Given the description of an element on the screen output the (x, y) to click on. 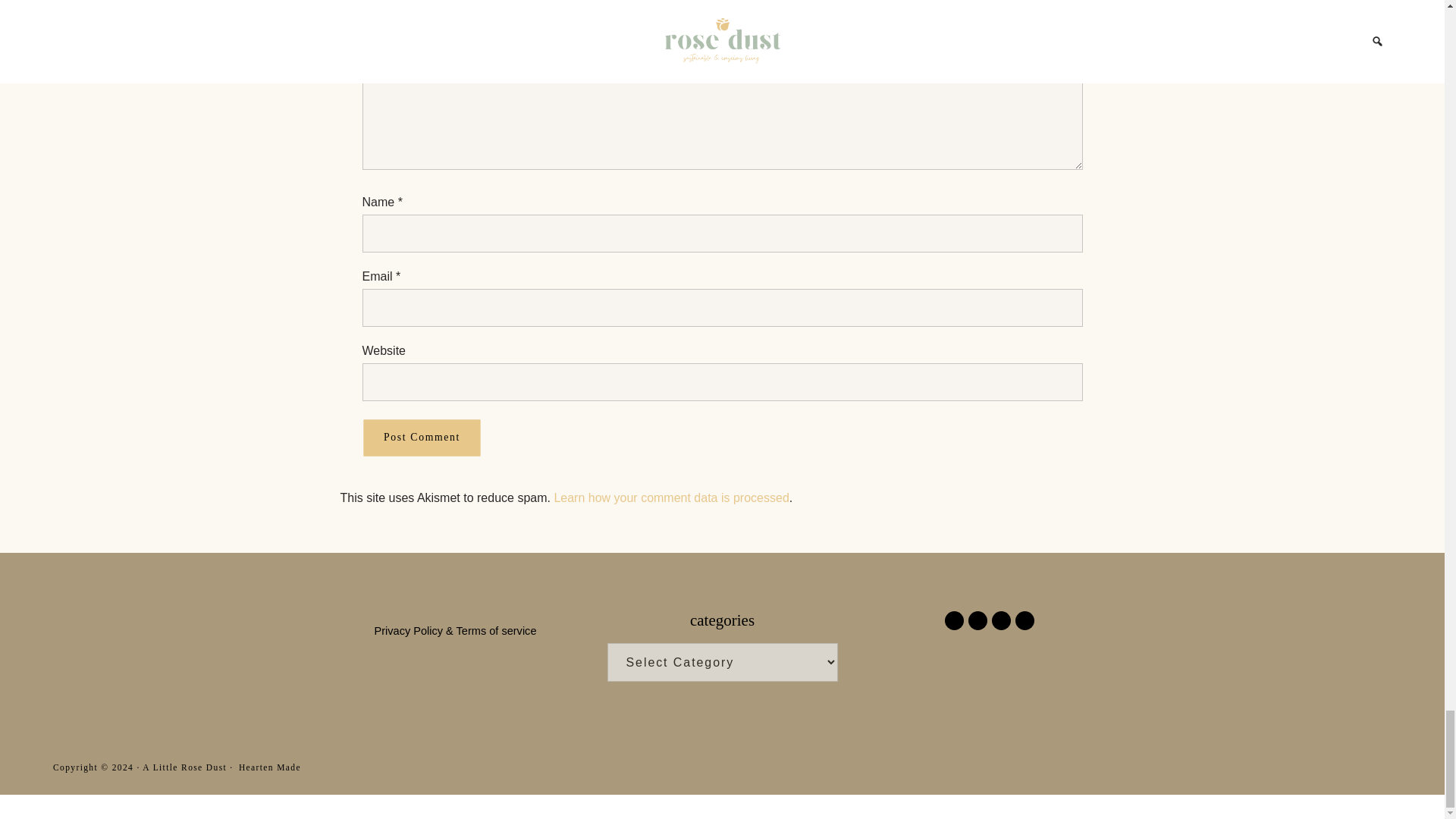
Learn how your comment data is processed (671, 497)
Post Comment (421, 437)
Privacy Policy (409, 630)
Terms of service (497, 630)
Post Comment (421, 437)
